Given the description of an element on the screen output the (x, y) to click on. 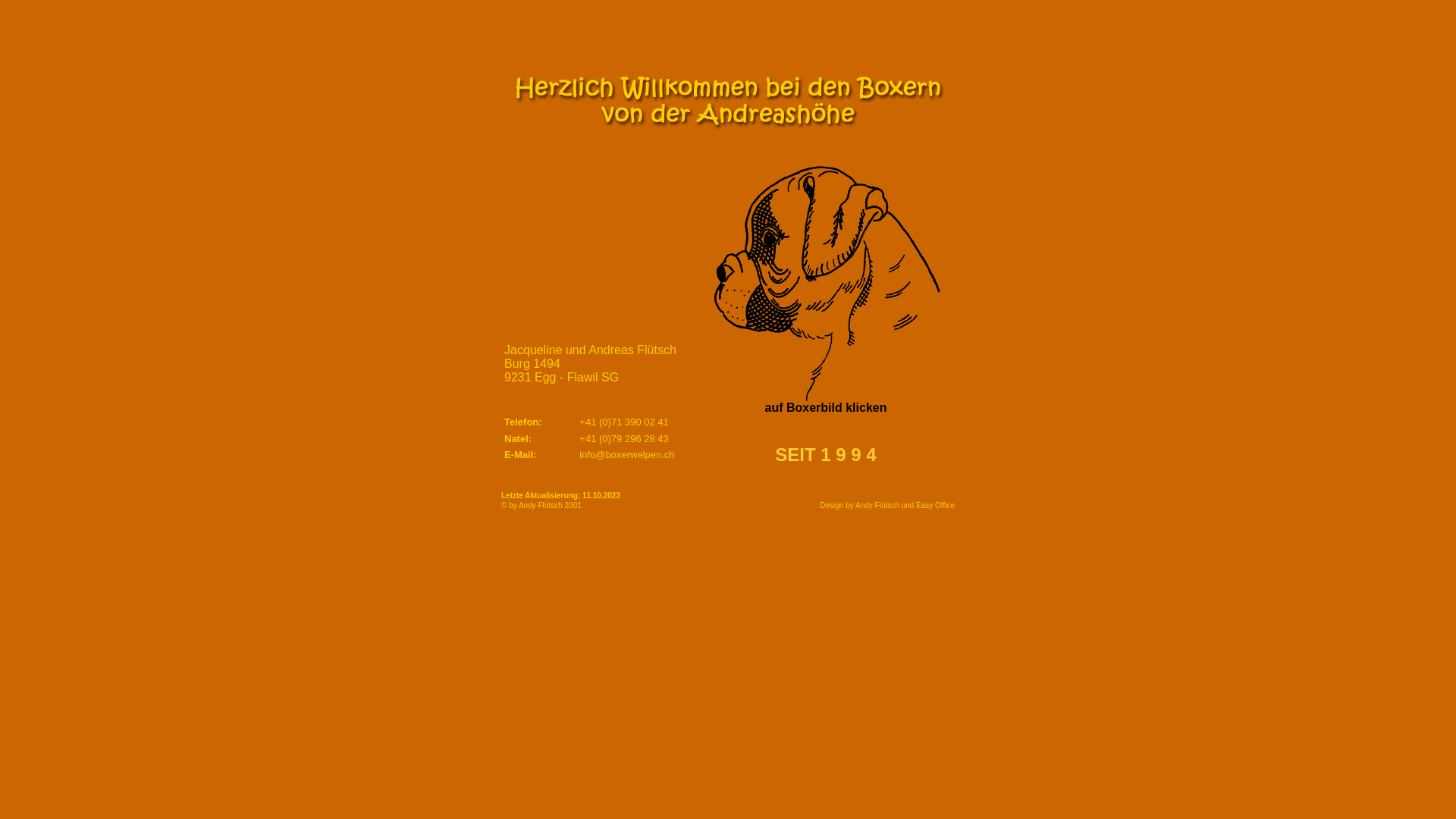
Easy Office Element type: text (935, 505)
info@boxerwelpen.ch Element type: text (626, 454)
